Given the description of an element on the screen output the (x, y) to click on. 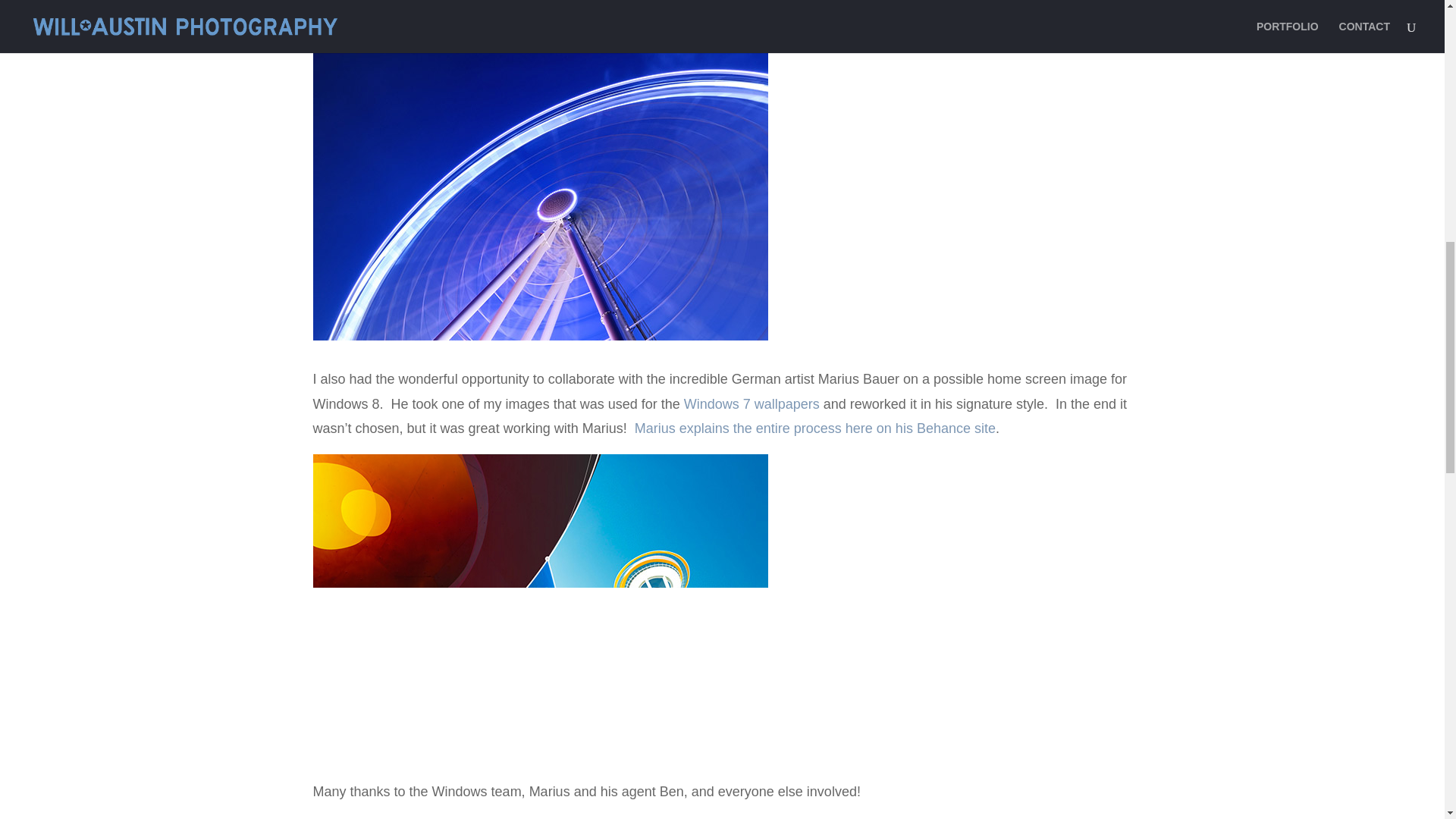
here is the link to the app in the Microsoft Store. (722, 12)
Marius Bauer Behance Windows 8 (814, 427)
Windows 7 wallpapers (751, 403)
Marius explains the entire process here on his Behance site (814, 427)
Microsoft Windows 7 photos by Will Austin Photography (751, 403)
Microsoft Store Photos App (722, 12)
